Given the description of an element on the screen output the (x, y) to click on. 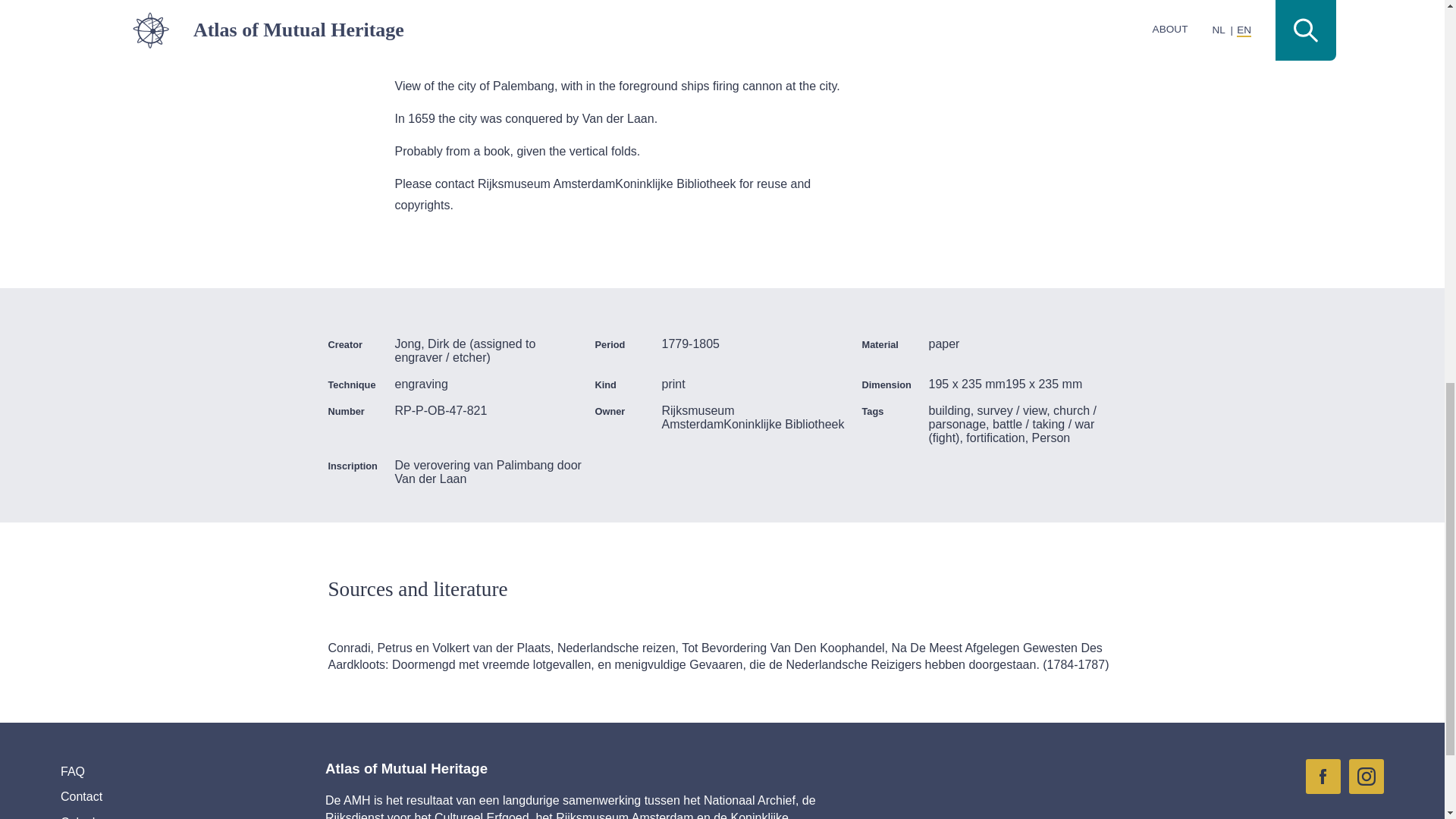
FAQ (160, 771)
1DCCBCE1-524A-48CB-831E-C31DDC7F78AF (1323, 776)
Colophon (160, 814)
7F10DEB0-DE4F-4124-ABEF-075F9CBF84BD (1366, 776)
Palembang (1022, 12)
Contact (160, 796)
